Given the description of an element on the screen output the (x, y) to click on. 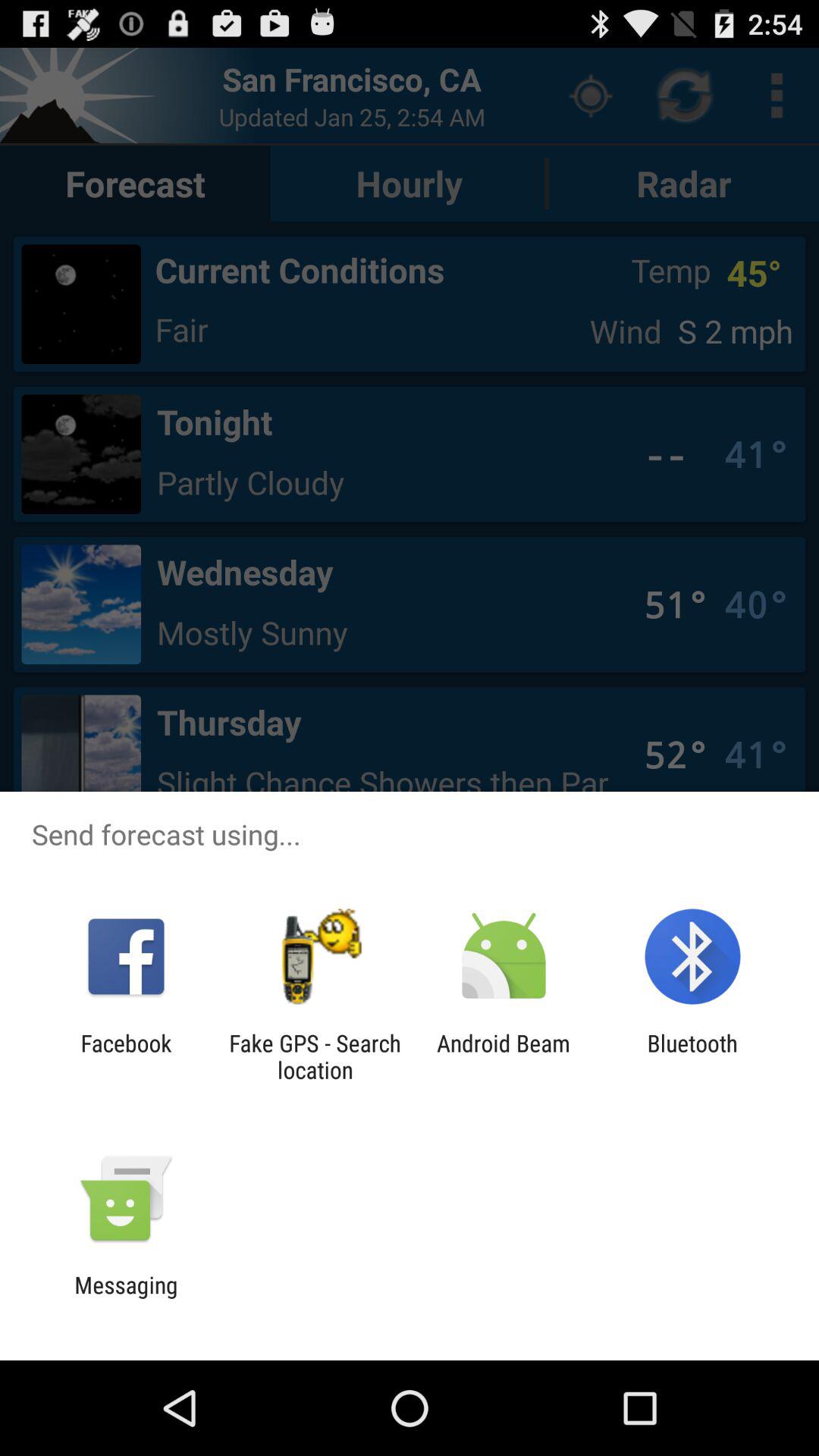
launch app to the left of bluetooth icon (503, 1056)
